Given the description of an element on the screen output the (x, y) to click on. 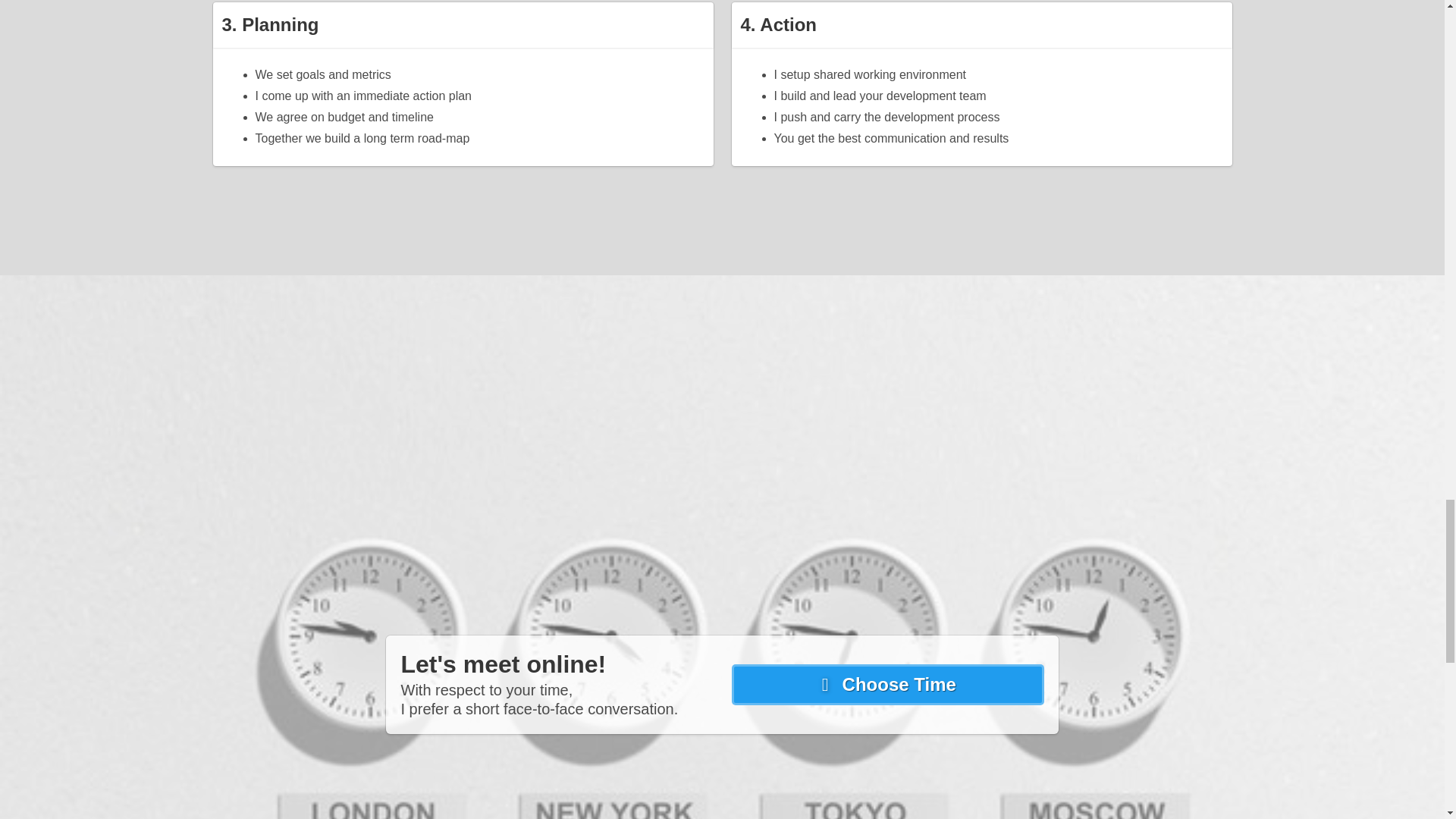
Choose Time (886, 684)
